Given the description of an element on the screen output the (x, y) to click on. 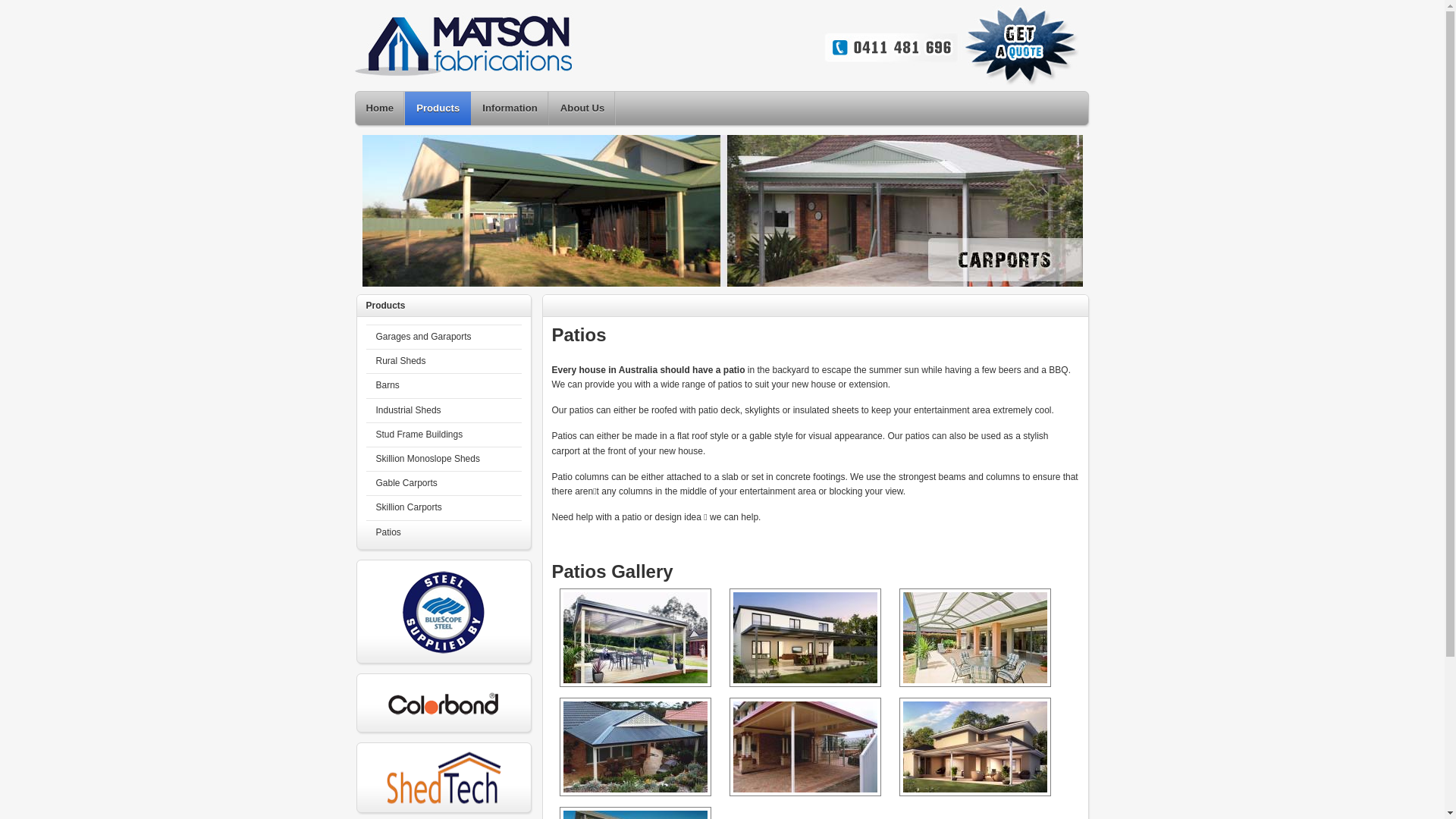
Stud Frame Buildings Element type: text (442, 434)
Industrial Sheds Element type: text (442, 410)
We use the industry leading ShedTech Software Element type: hover (443, 778)
patio4.jpg Element type: hover (635, 637)
patio2.jpg Element type: hover (975, 637)
patio1.jpg Element type: hover (635, 746)
Products Element type: text (437, 114)
Home Element type: text (379, 114)
Skillion Carports Element type: text (442, 507)
patio7.jpg Element type: hover (805, 637)
Skillion Monoslope Sheds Element type: text (442, 458)
Fill in your Bluescope Warranty Online Element type: hover (443, 612)
patio6.jpg Element type: hover (975, 746)
About Us Element type: text (582, 114)
Barns Element type: text (442, 385)
Garages and Garaports Element type: text (442, 336)
Rural Sheds Element type: text (442, 361)
Patios Element type: text (442, 531)
Gable Carports Element type: text (442, 483)
Information Element type: text (509, 114)
Matson Fabrications Sheds and Patios Albany Element type: hover (716, 45)
patio3.jpg Element type: hover (805, 746)
